Given the description of an element on the screen output the (x, y) to click on. 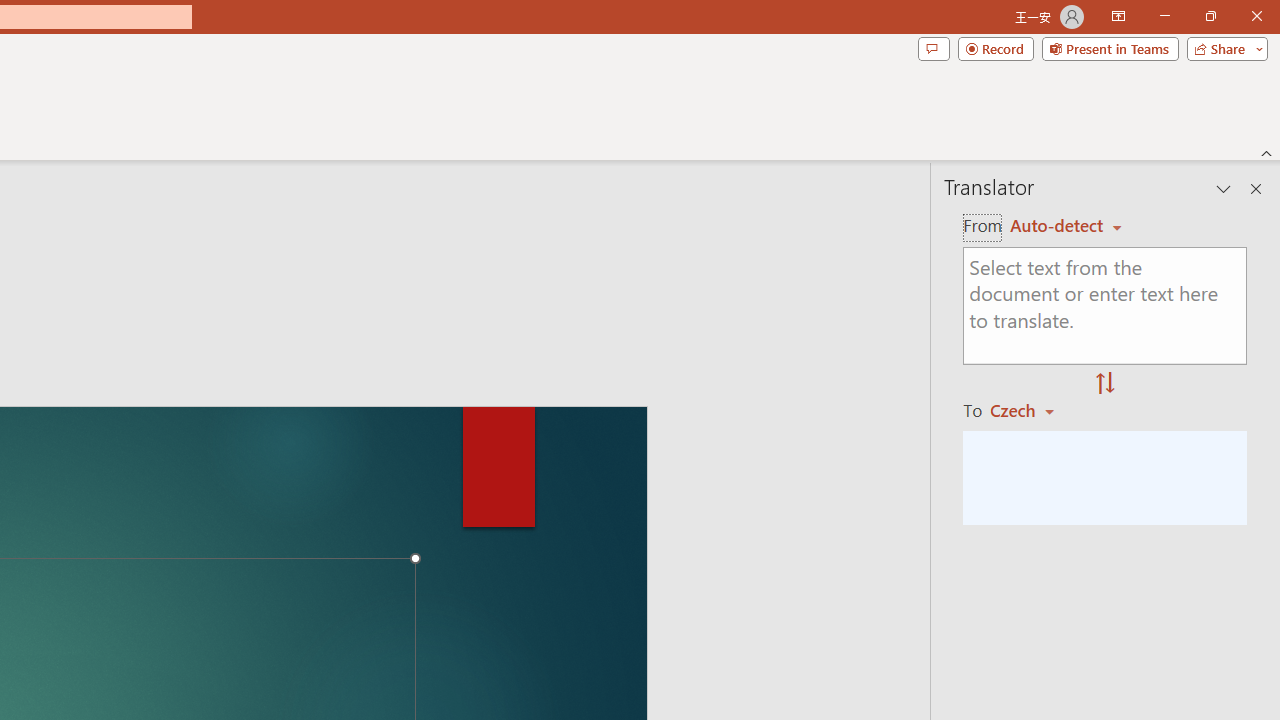
Close pane (1256, 188)
Czech (1030, 409)
